Given the description of an element on the screen output the (x, y) to click on. 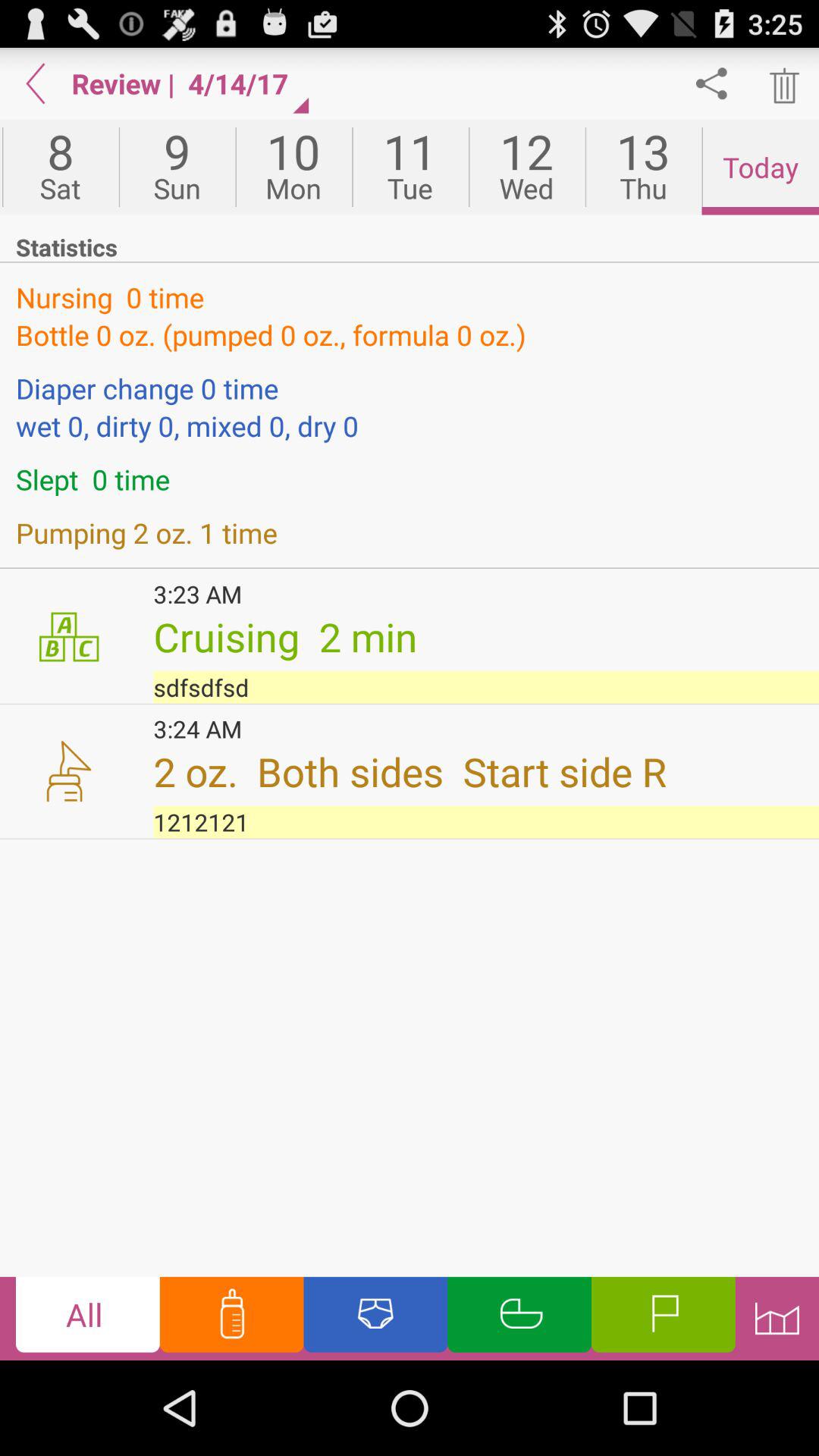
go back button (35, 83)
